Given the description of an element on the screen output the (x, y) to click on. 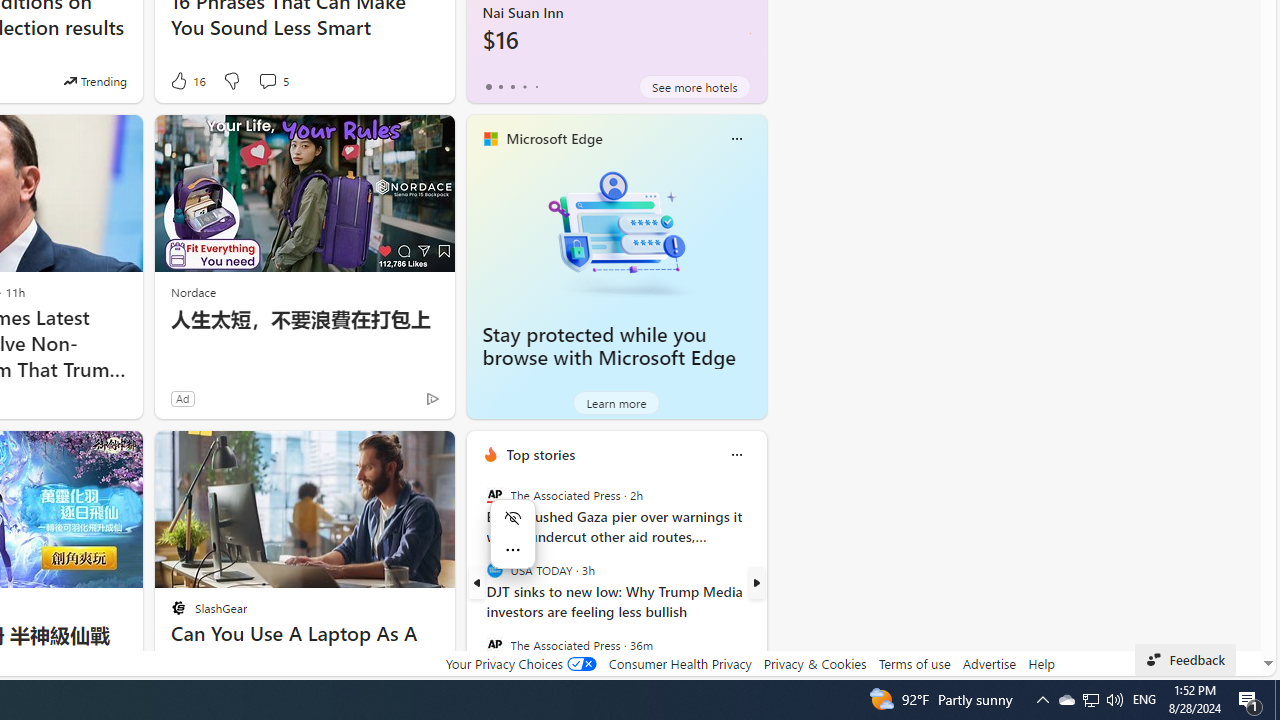
Your Privacy Choices (520, 663)
next (756, 583)
tab-2 (511, 86)
The Associated Press (494, 644)
Learn more (616, 402)
Help (1040, 663)
previous (476, 583)
Mini menu on text selection (513, 546)
This story is trending (95, 80)
tab-0 (488, 86)
